Given the description of an element on the screen output the (x, y) to click on. 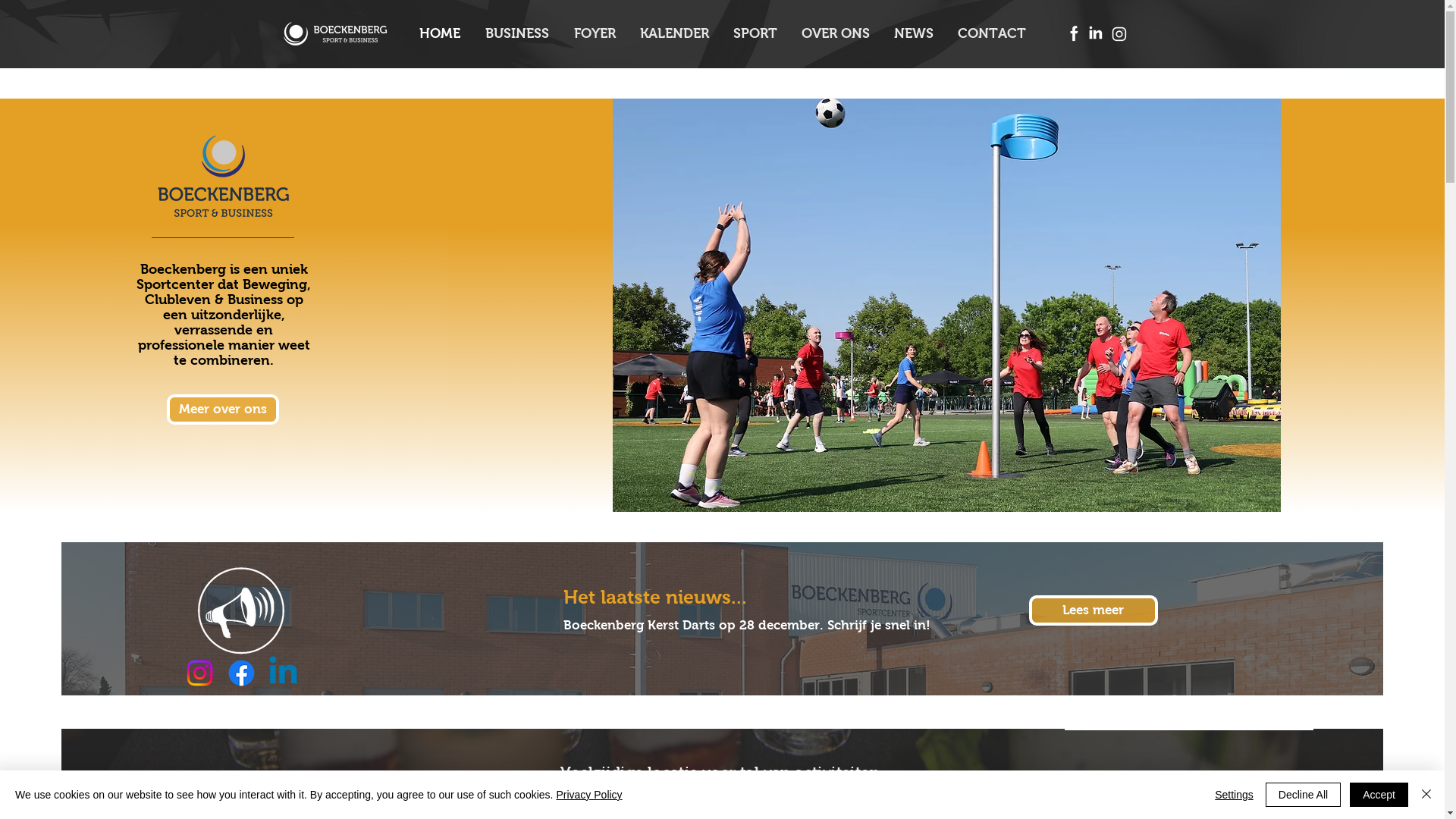
FOYER Element type: text (594, 33)
Privacy Policy Element type: text (588, 794)
Accept Element type: text (1378, 794)
SPORT Element type: text (754, 33)
KALENDER Element type: text (674, 33)
CONTACT Element type: text (990, 33)
Decline All Element type: text (1302, 794)
OVER ONS Element type: text (834, 33)
Lees meer Element type: text (1093, 610)
Meer over ons Element type: text (222, 409)
BUSINESS Element type: text (517, 33)
HOME Element type: text (439, 33)
NEWS Element type: text (912, 33)
